Given the description of an element on the screen output the (x, y) to click on. 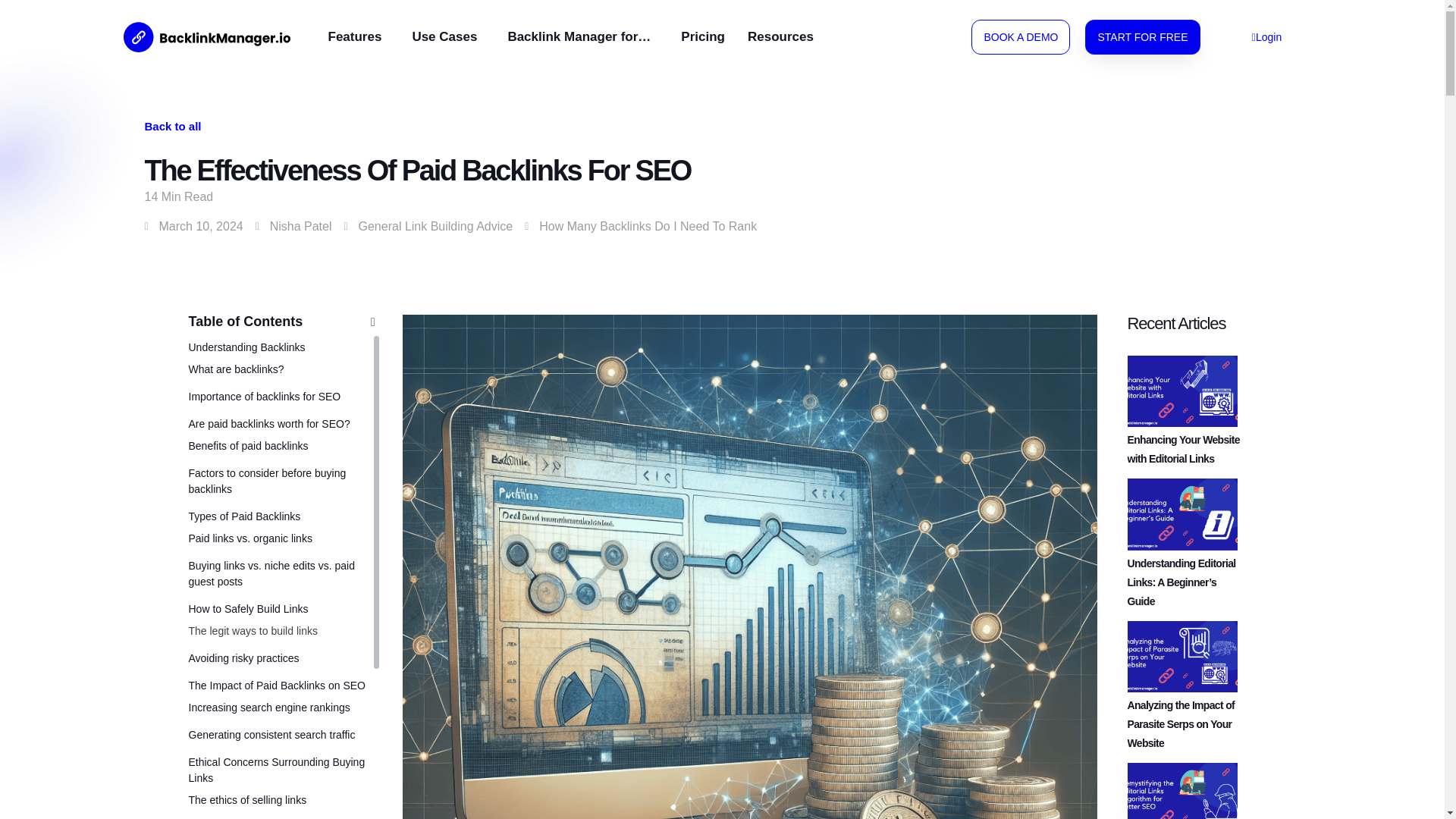
Pricing (702, 16)
Resources (784, 17)
